Given the description of an element on the screen output the (x, y) to click on. 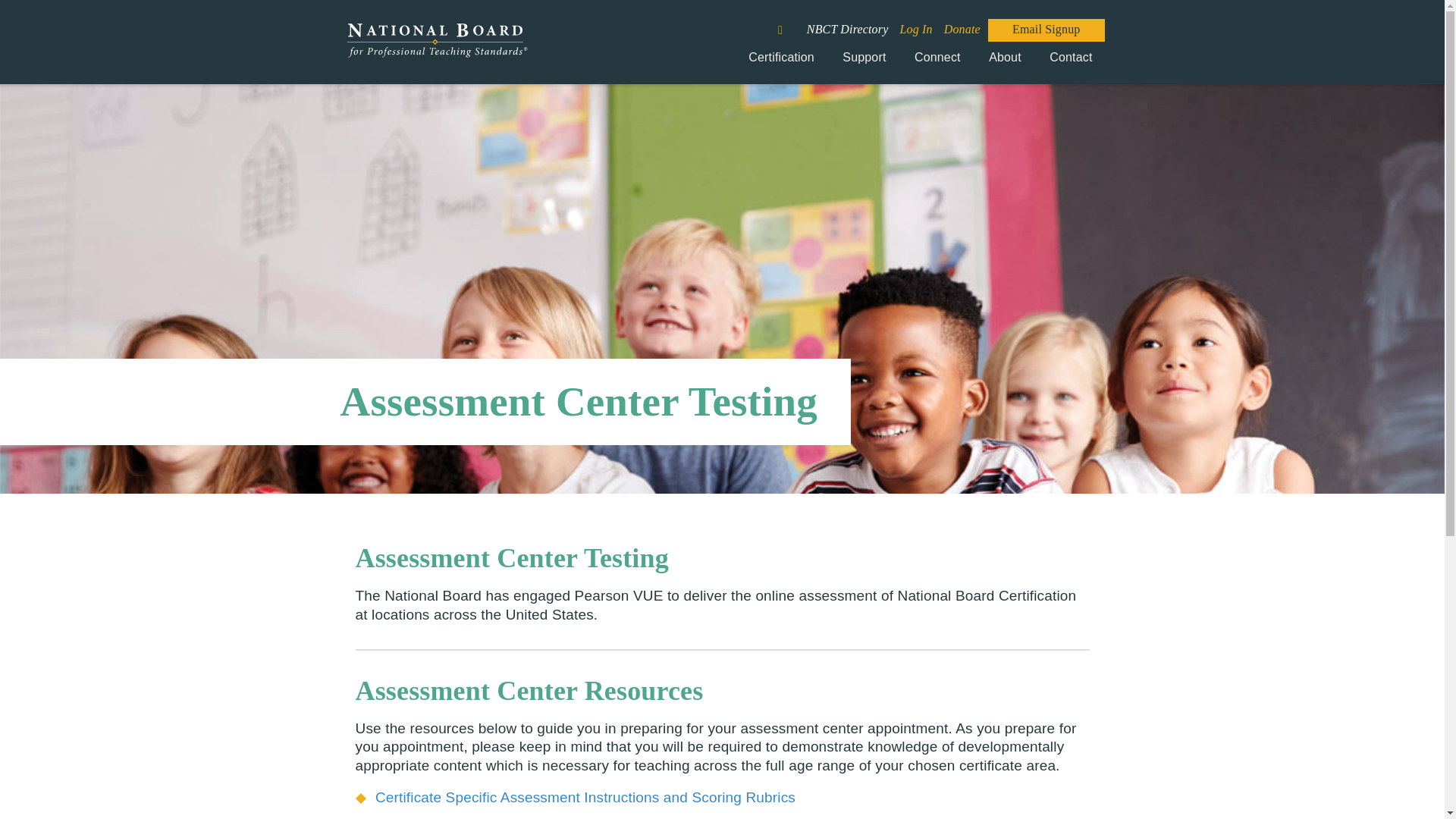
About (1004, 62)
Log In (916, 29)
Home Page (435, 47)
Search (788, 23)
Certification (781, 62)
Connect (937, 62)
NBCT Directory (847, 29)
Donate (962, 29)
Email Signup (1045, 29)
Support (863, 62)
